Given the description of an element on the screen output the (x, y) to click on. 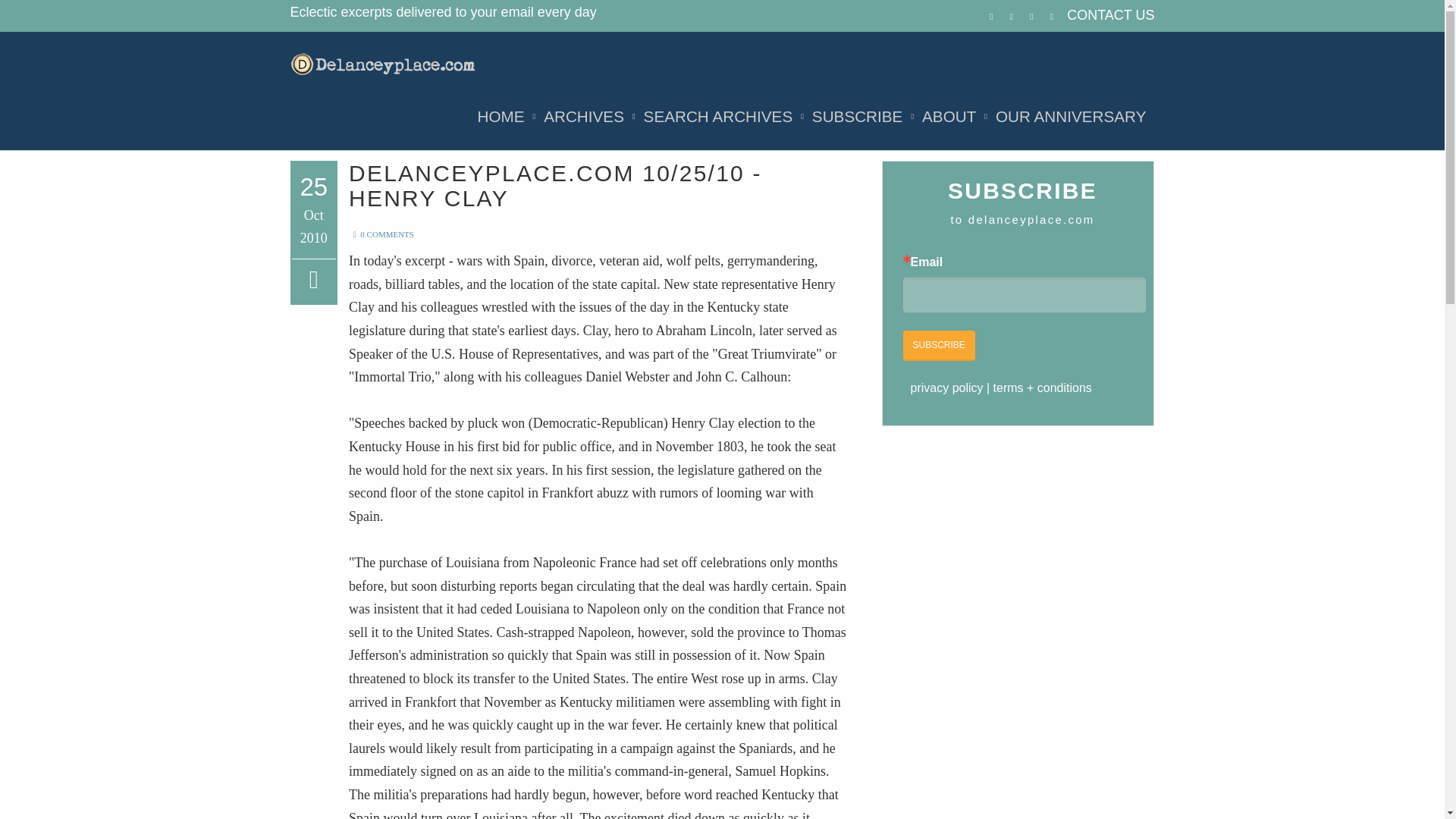
CONTACT US (1110, 14)
SUBSCRIBE (857, 116)
0 COMMENTS (381, 234)
HOME (500, 116)
ARCHIVES (583, 116)
SEARCH ARCHIVES (718, 116)
OUR ANNIVERSARY (1070, 116)
ABOUT (949, 116)
